Given the description of an element on the screen output the (x, y) to click on. 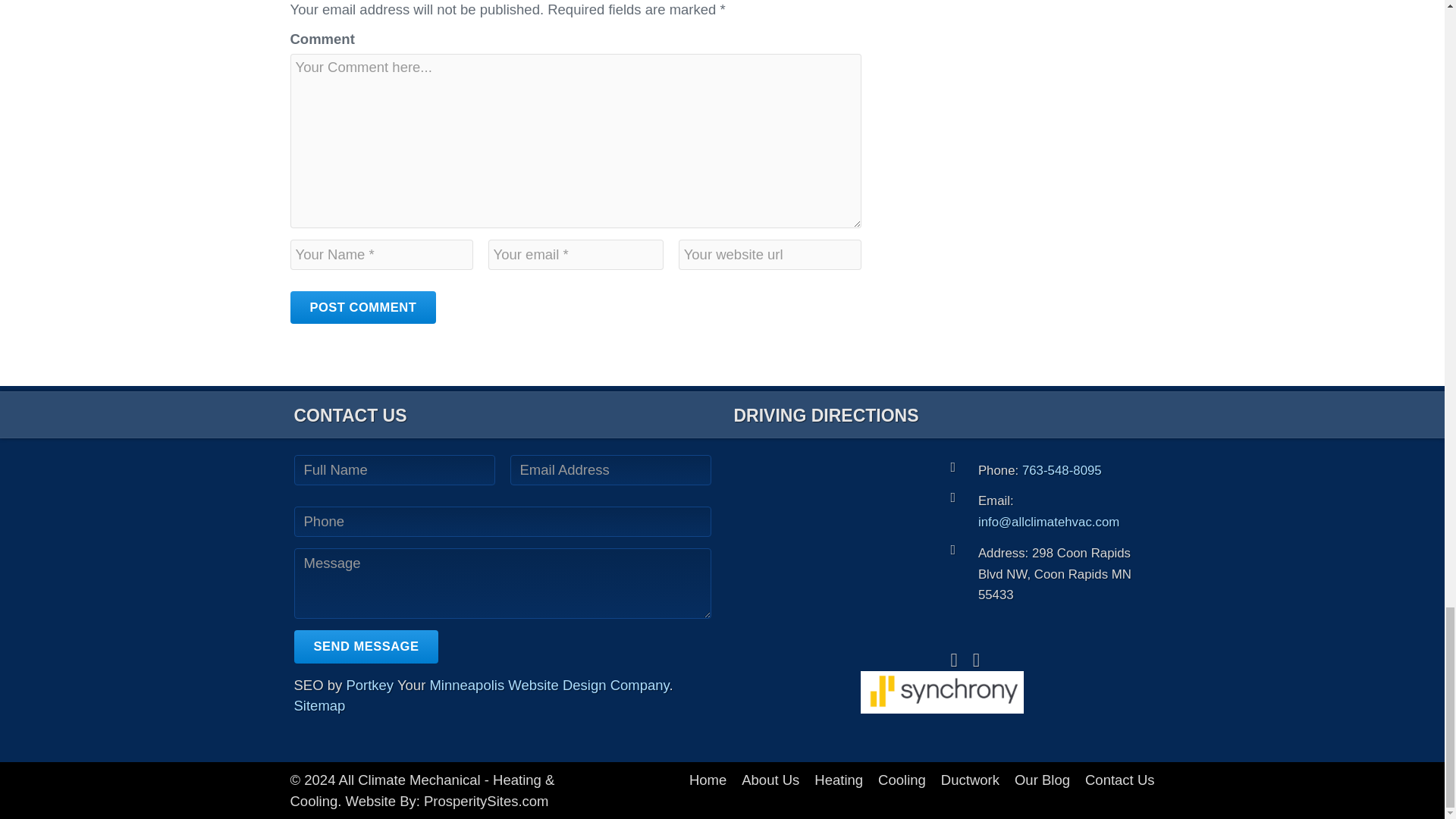
Post Comment (362, 307)
Send Message (366, 646)
